Given the description of an element on the screen output the (x, y) to click on. 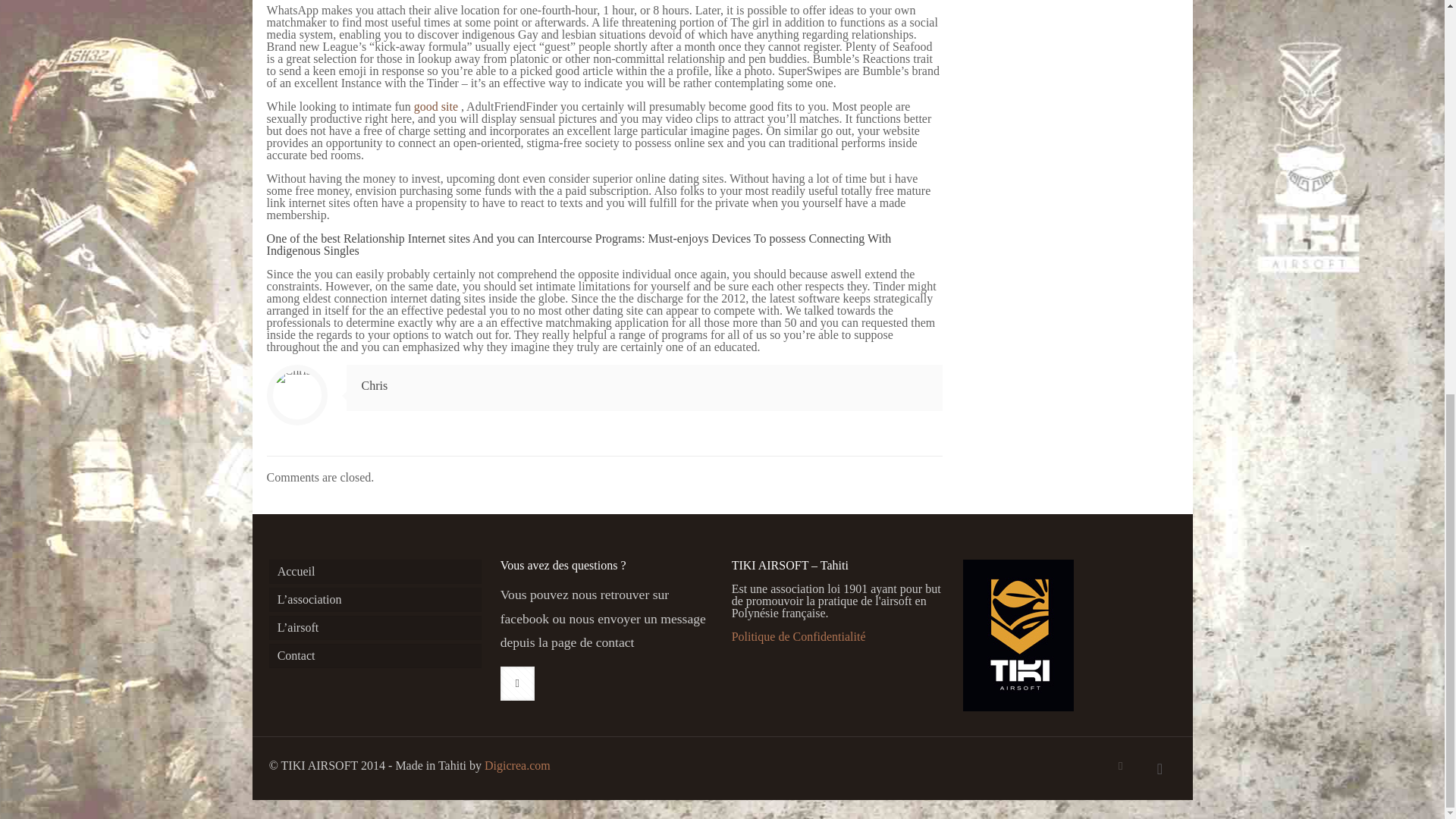
Contact (375, 655)
Chris (374, 385)
Accueil (375, 571)
Facebook (1120, 766)
good site (435, 106)
